Given the description of an element on the screen output the (x, y) to click on. 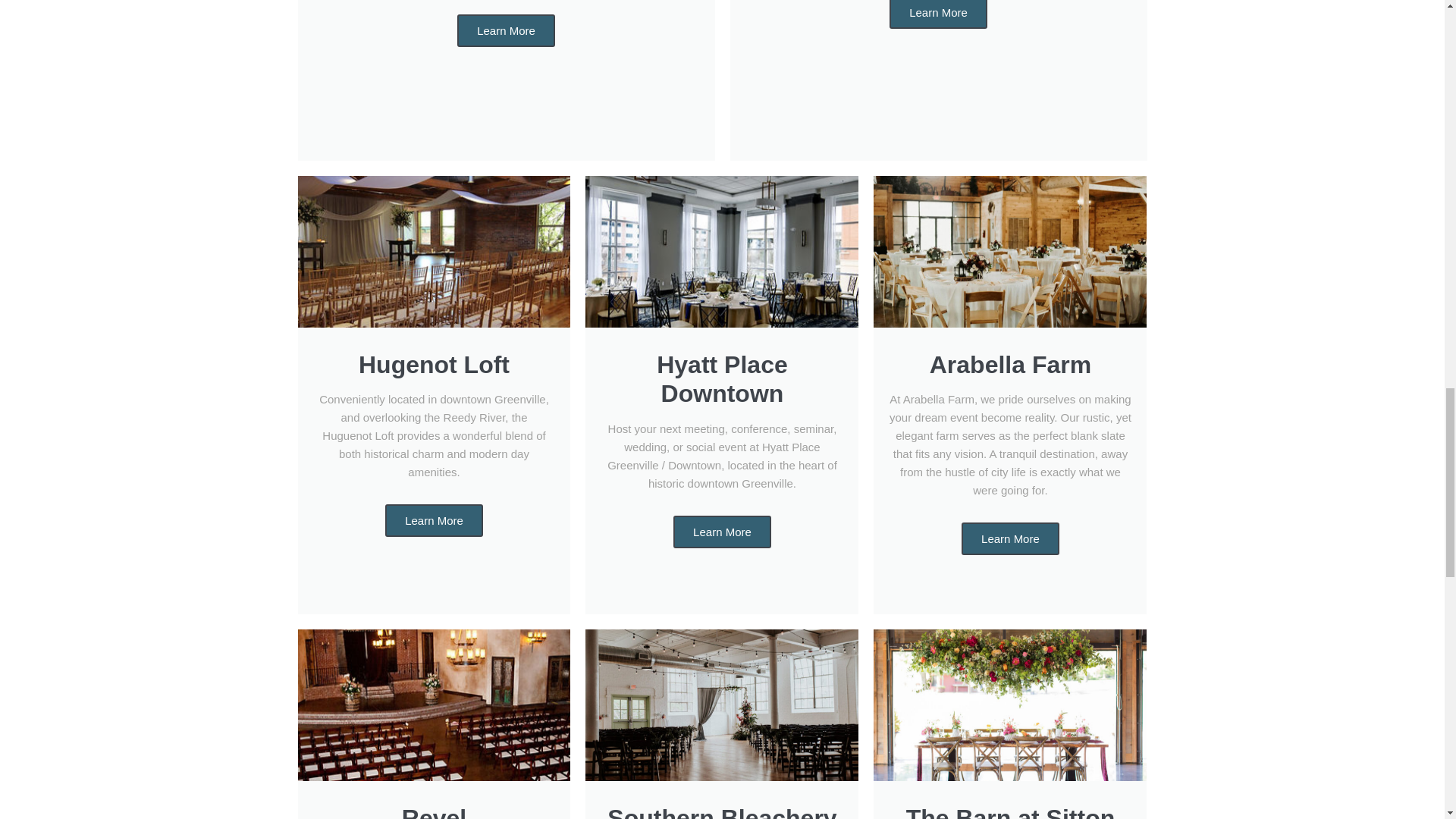
Learn More (434, 520)
Learn More (938, 14)
Learn More (1009, 538)
Learn More (505, 30)
Learn More (721, 531)
